Given the description of an element on the screen output the (x, y) to click on. 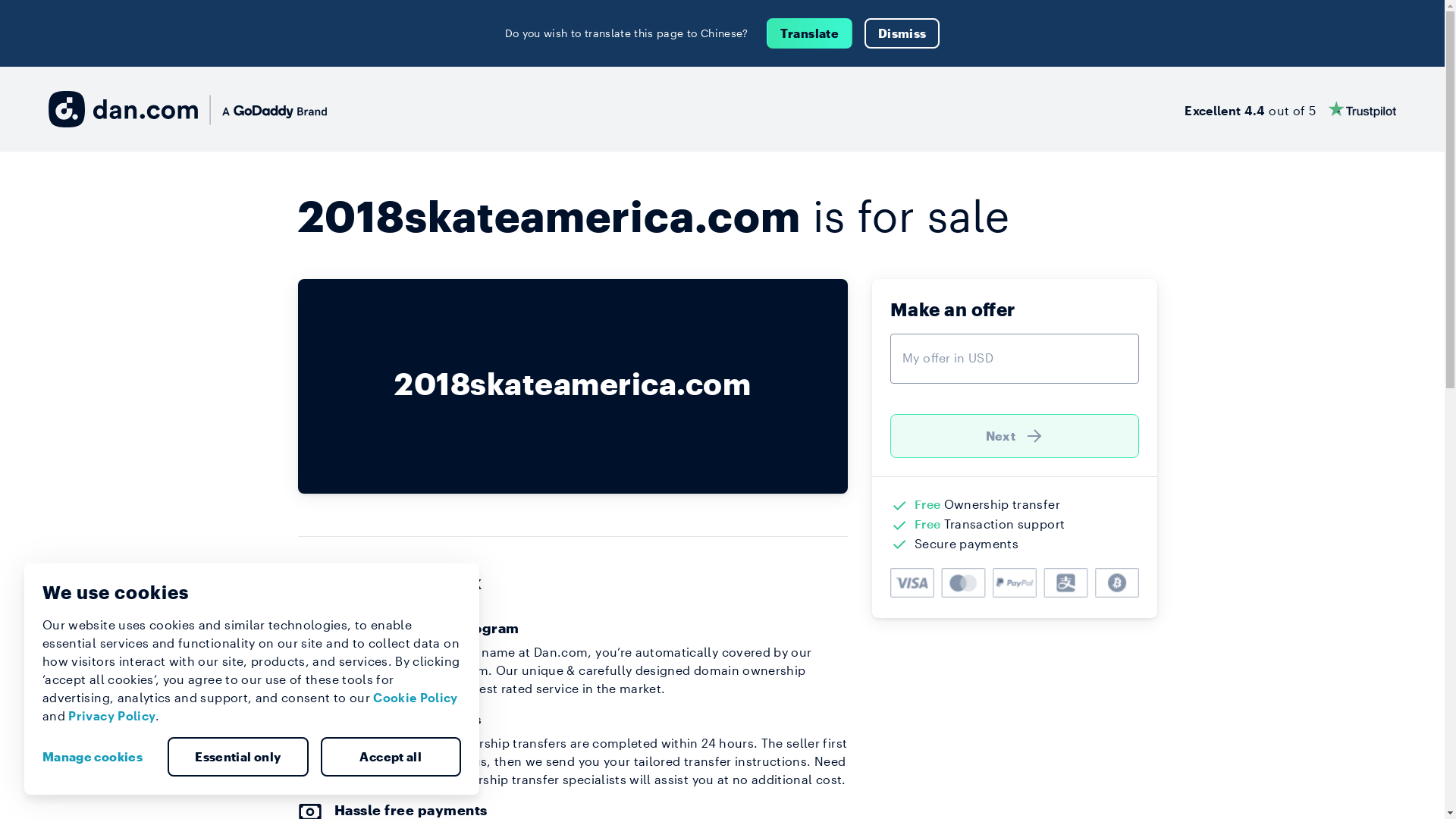
Excellent 4.4 out of 5 Element type: text (1290, 109)
Manage cookies Element type: text (98, 756)
Accept all Element type: text (390, 756)
Dismiss Element type: text (901, 33)
Translate Element type: text (809, 33)
Cookie Policy Element type: text (415, 697)
Essential only Element type: text (237, 756)
Privacy Policy Element type: text (111, 715)
Next
) Element type: text (1014, 436)
